Given the description of an element on the screen output the (x, y) to click on. 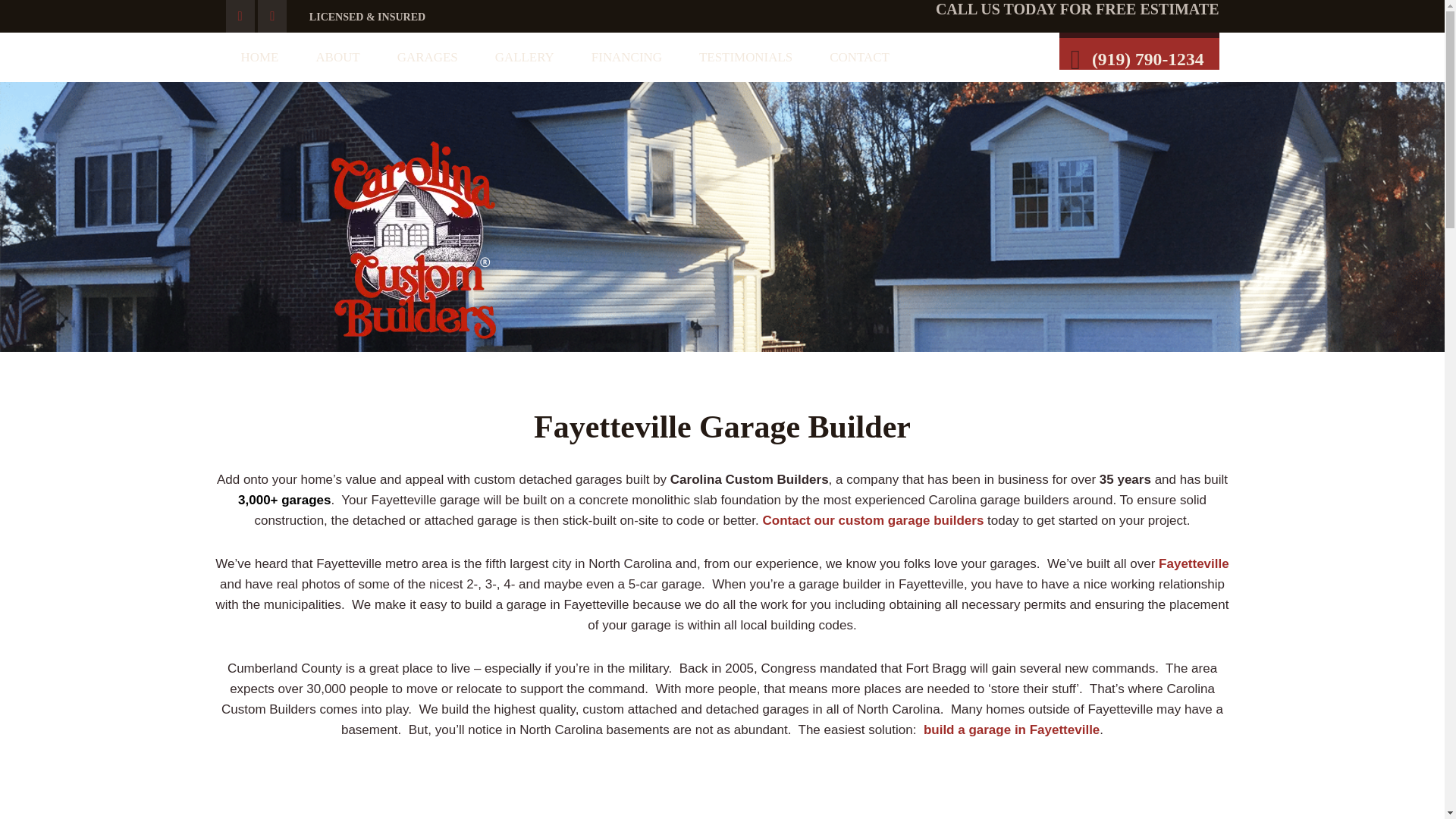
CALL US TODAY FOR FREE ESTIMATE (1078, 9)
TESTIMONIALS (746, 56)
build a garage in Fayetteville (1011, 729)
ONE STORY GARAGES (524, 407)
CITIES WE BUILD IN (858, 106)
GALLERY (524, 56)
Contact our custom garage builders (872, 520)
RESOURCES (336, 106)
ABOUT (336, 56)
GARAGES UNDER CONSTRUCTION (524, 306)
TWO STORY GARAGES (524, 457)
Fayetteville (1193, 563)
GARAGES (427, 56)
HOME (259, 56)
ONE HALF STORY GARAGES (524, 357)
